Given the description of an element on the screen output the (x, y) to click on. 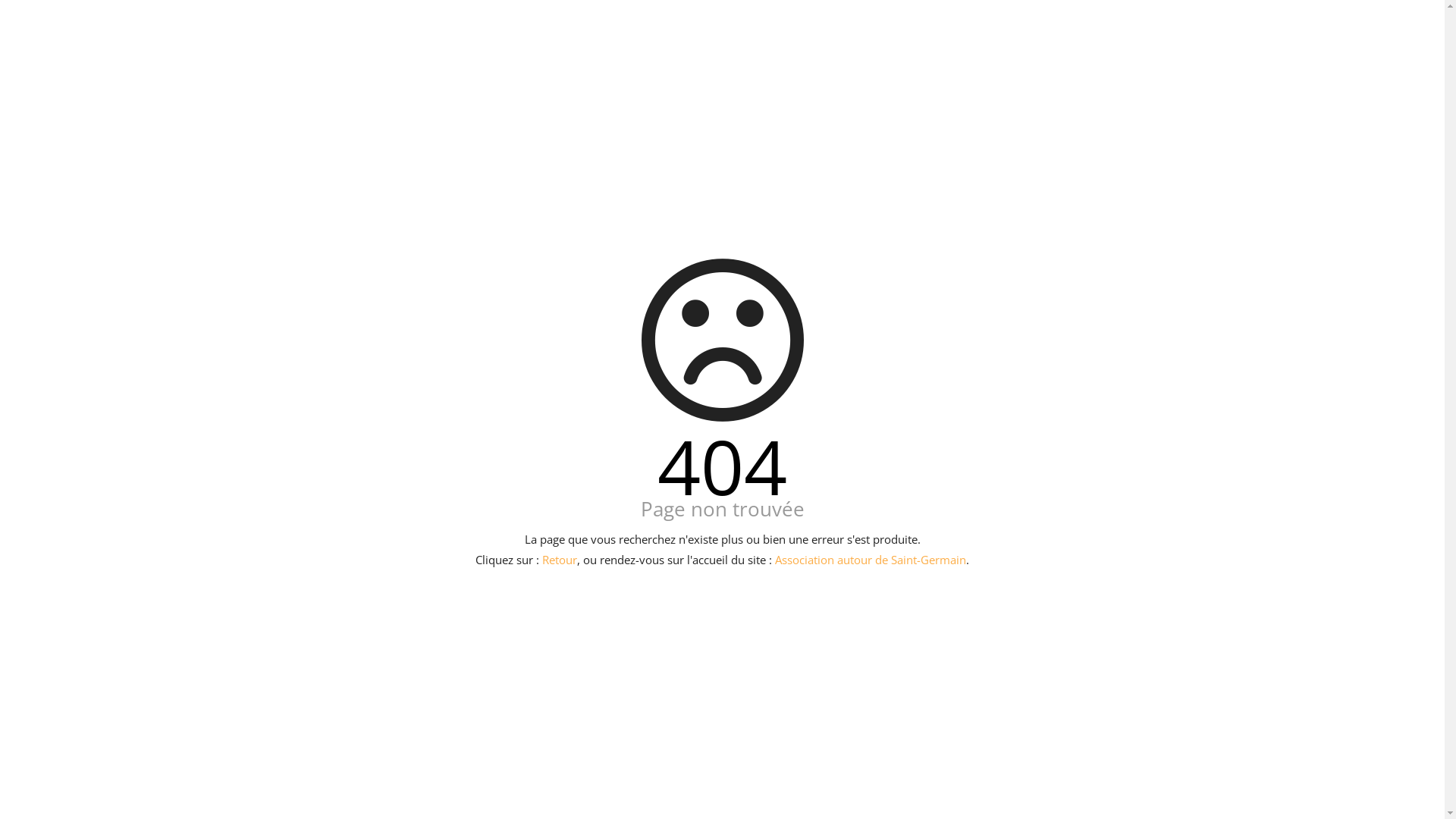
Retour Element type: text (559, 559)
Association autour de Saint-Germain Element type: text (870, 559)
